Given the description of an element on the screen output the (x, y) to click on. 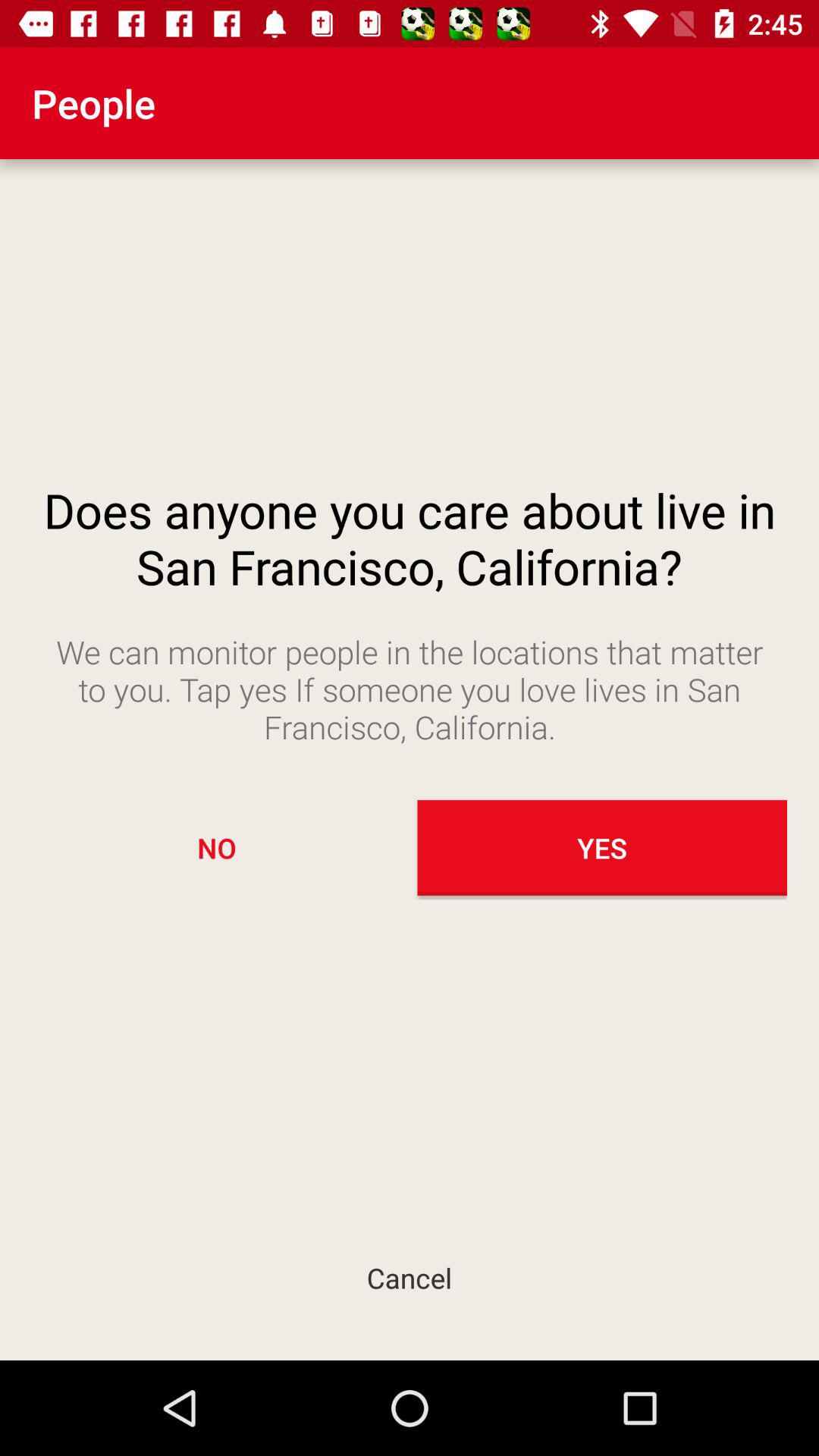
launch the icon next to the yes icon (216, 847)
